Given the description of an element on the screen output the (x, y) to click on. 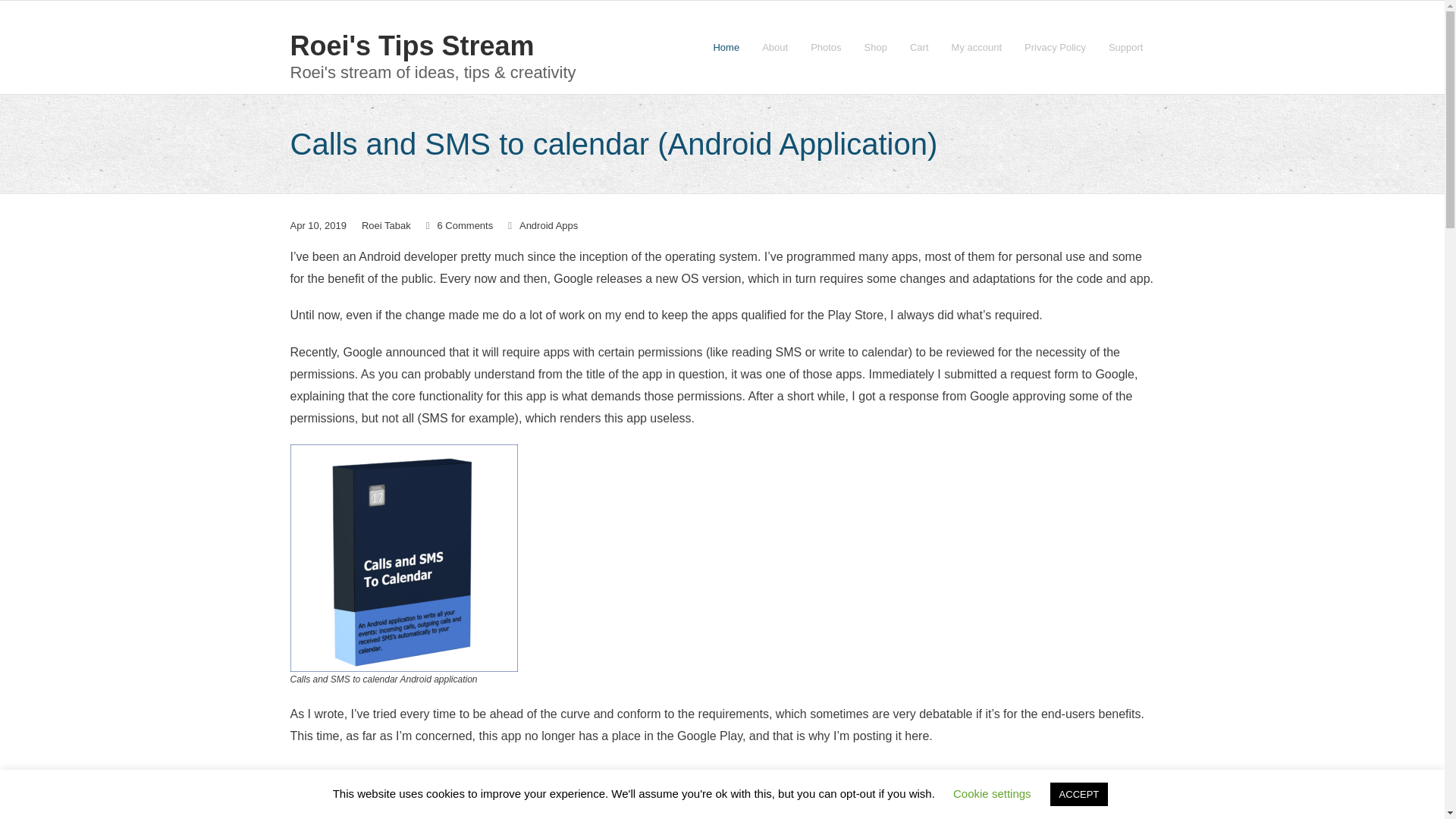
6 Comments (465, 225)
Roei's Tips Stream (432, 46)
View all posts by Roei Tabak (385, 225)
Apr 10, 2019 (317, 225)
Roei Tabak (385, 225)
Privacy Policy (1055, 47)
Android Apps (548, 225)
